Given the description of an element on the screen output the (x, y) to click on. 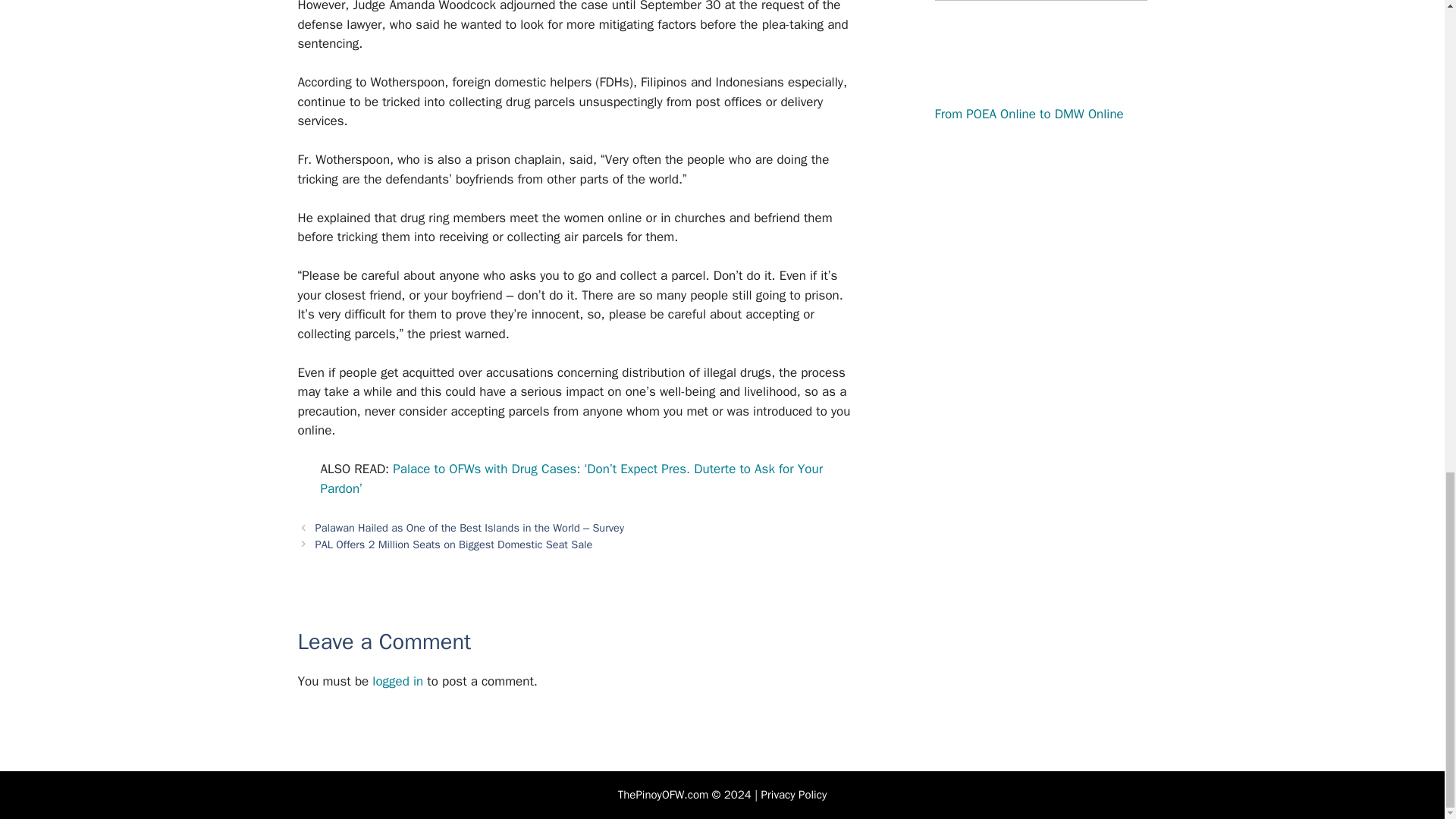
Scroll back to top (1406, 414)
